Given the description of an element on the screen output the (x, y) to click on. 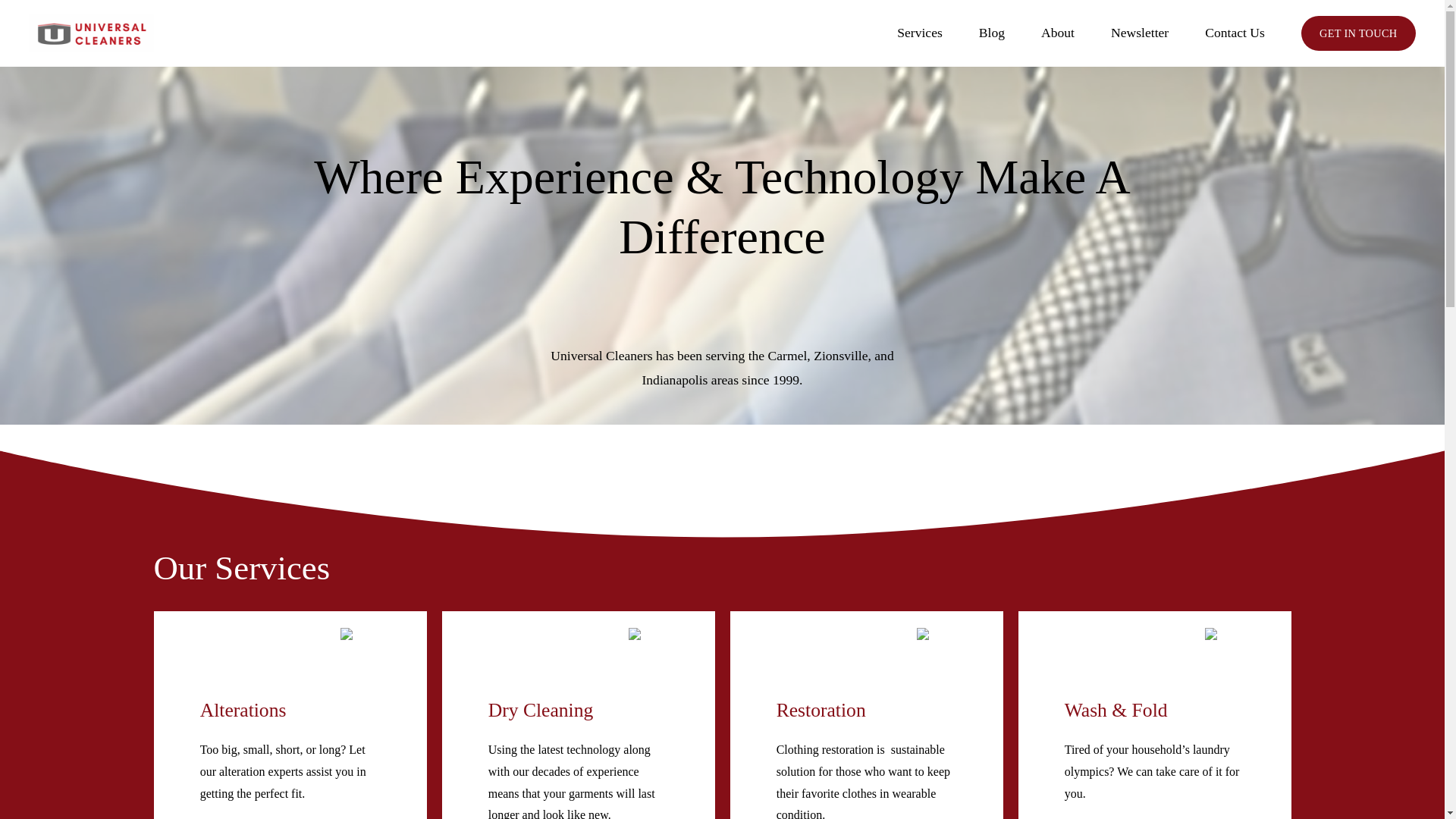
About (1057, 33)
Newsletter (1139, 33)
Services (919, 33)
Blog (991, 33)
GET IN TOUCH (1358, 32)
Contact Us (1235, 33)
